Given the description of an element on the screen output the (x, y) to click on. 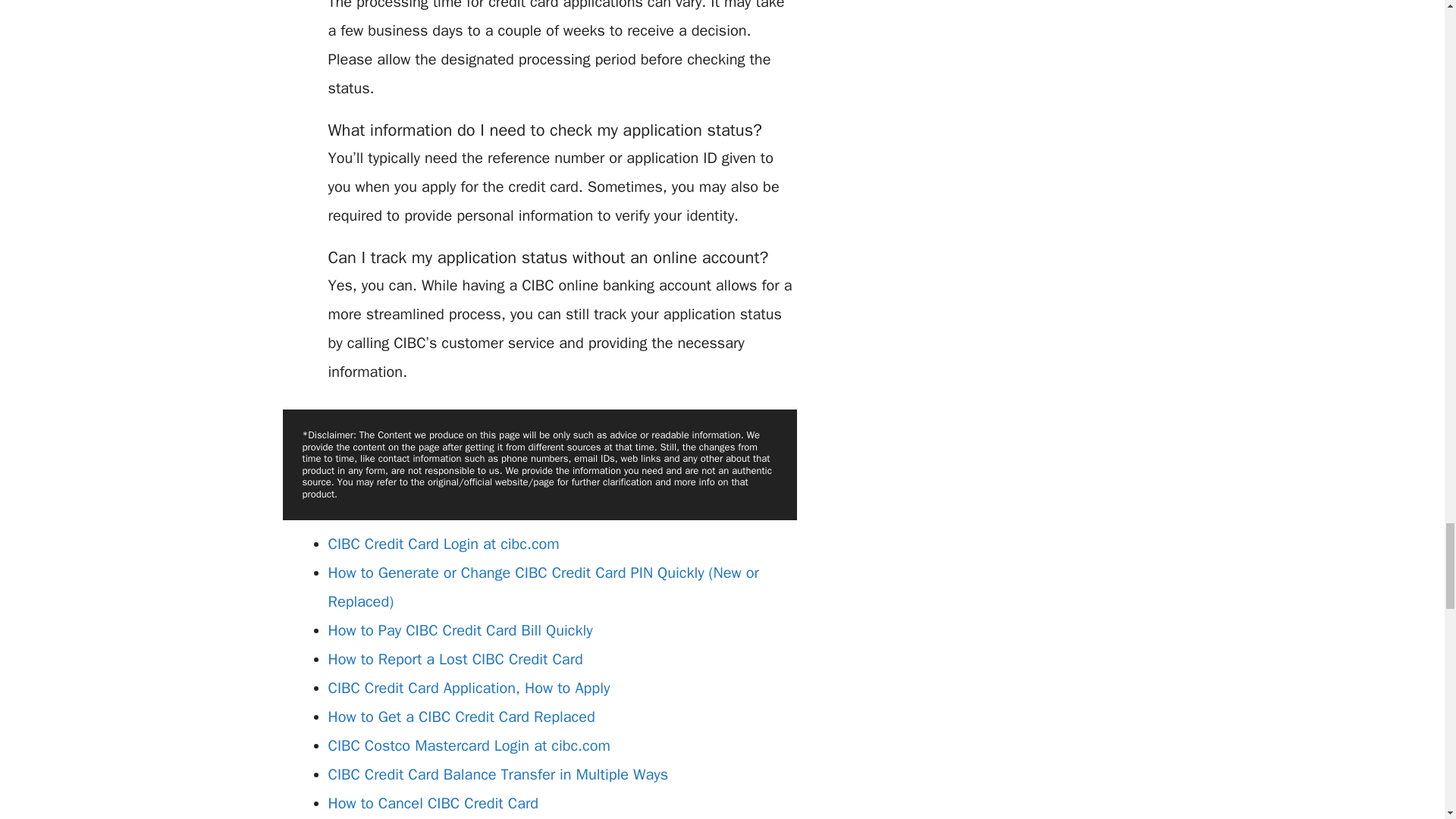
CIBC Credit Card Balance Transfer in Multiple Ways (497, 773)
CIBC Credit Card Login at cibc.com (443, 543)
How to Report a Lost CIBC Credit Card (454, 659)
How to Cancel CIBC Credit Card (432, 803)
CIBC Credit Card Application, How to Apply (468, 687)
How to Pay CIBC Credit Card Bill Quickly (459, 629)
CIBC Costco Mastercard Login at cibc.com (468, 745)
How to Get a CIBC Credit Card Replaced (460, 716)
